Given the description of an element on the screen output the (x, y) to click on. 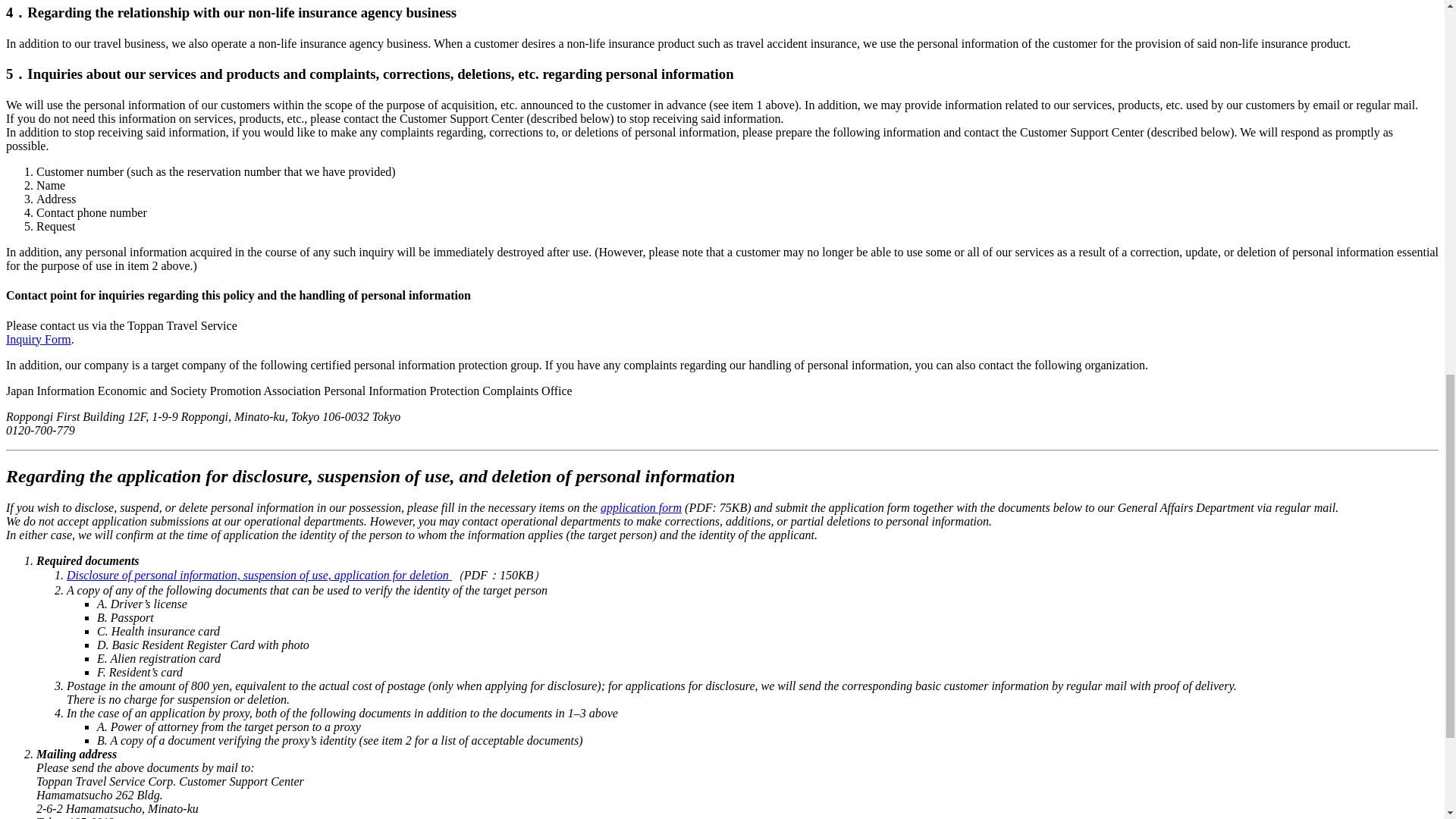
application form (640, 507)
Inquiry Form (38, 338)
